Given the description of an element on the screen output the (x, y) to click on. 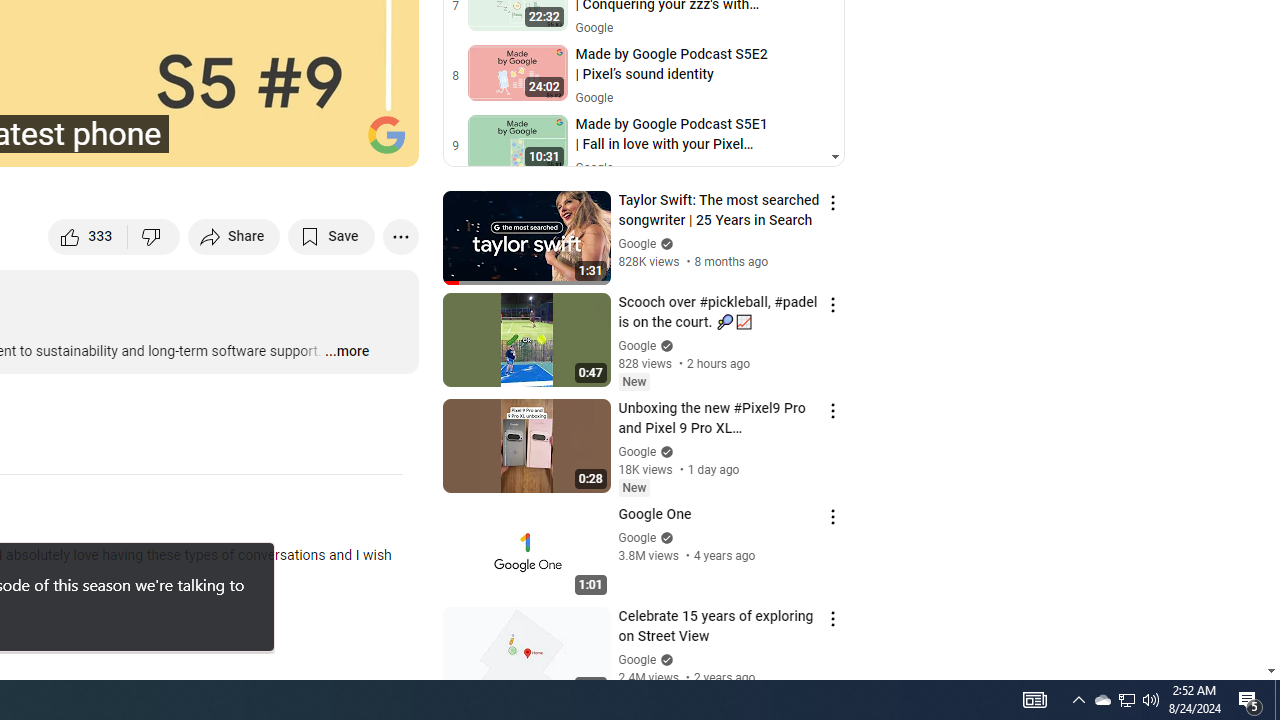
Save to playlist (331, 236)
Theater mode (t) (333, 142)
Action menu (832, 618)
Dislike this video (154, 236)
More actions (399, 236)
